Given the description of an element on the screen output the (x, y) to click on. 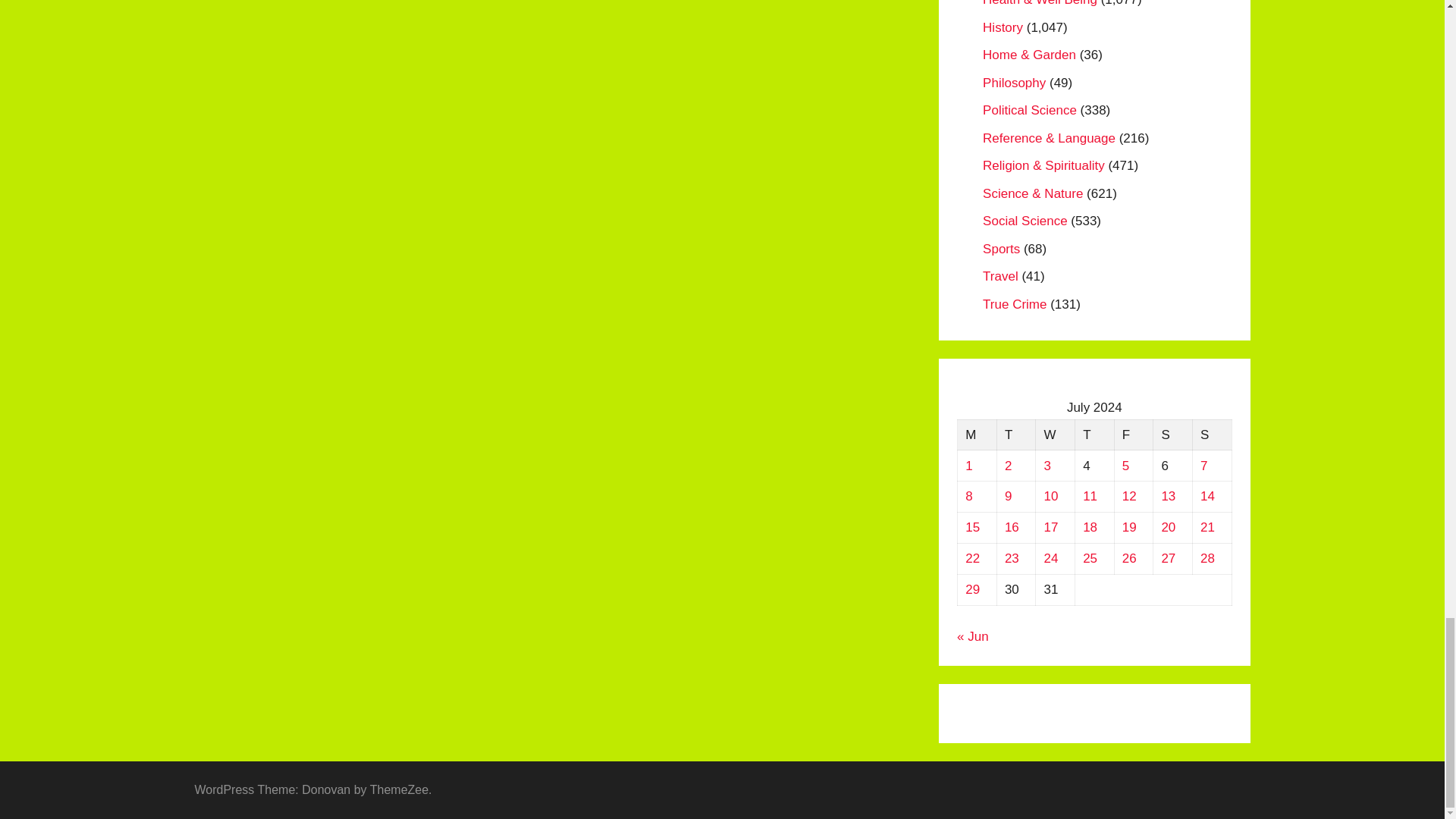
Wednesday (1055, 434)
Monday (977, 434)
Saturday (1172, 434)
Thursday (1093, 434)
Sunday (1211, 434)
Friday (1133, 434)
Tuesday (1015, 434)
